Given the description of an element on the screen output the (x, y) to click on. 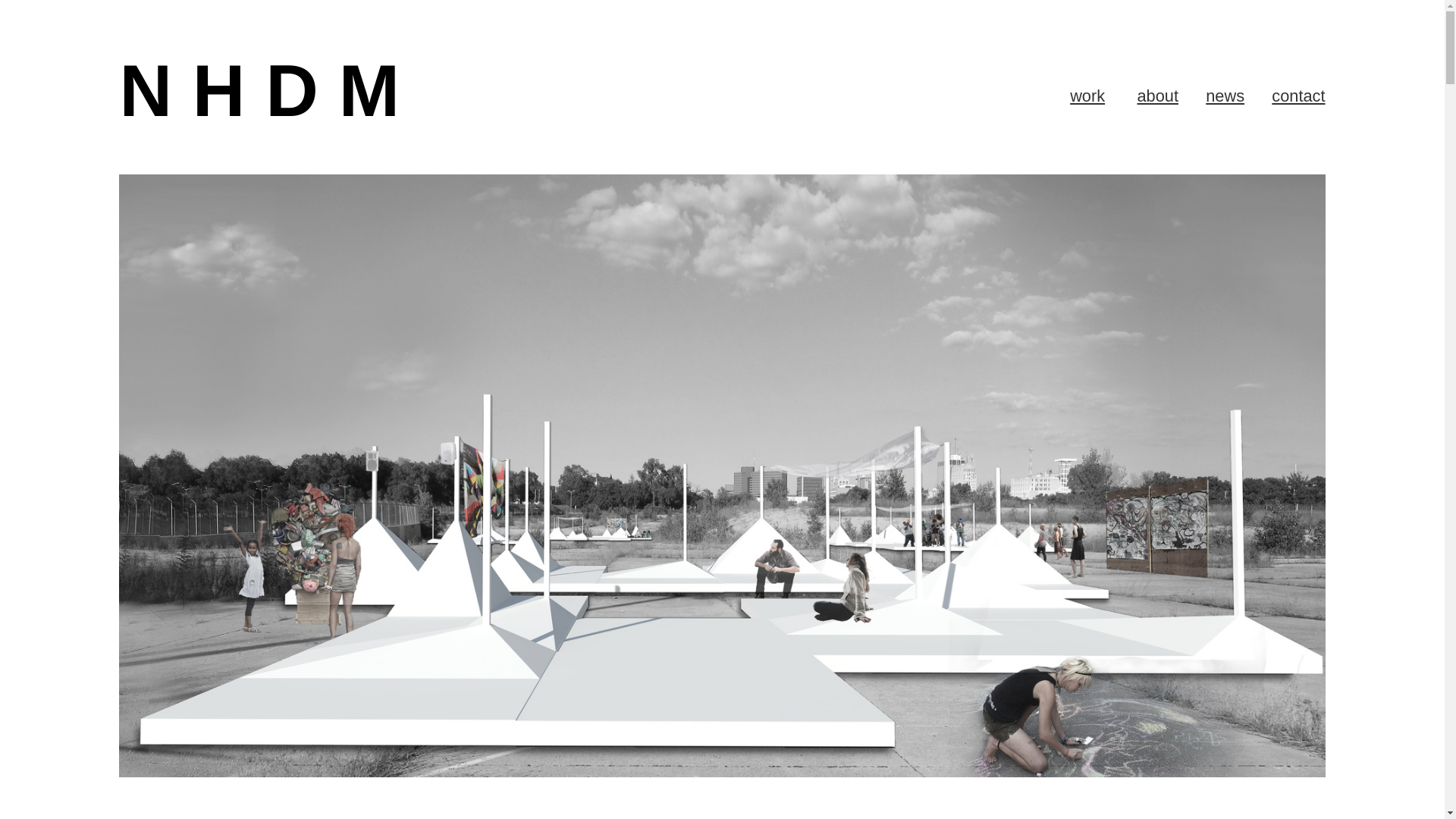
contact (1297, 96)
work (1087, 96)
about (1157, 96)
news (1224, 96)
N H D M  (269, 93)
